Given the description of an element on the screen output the (x, y) to click on. 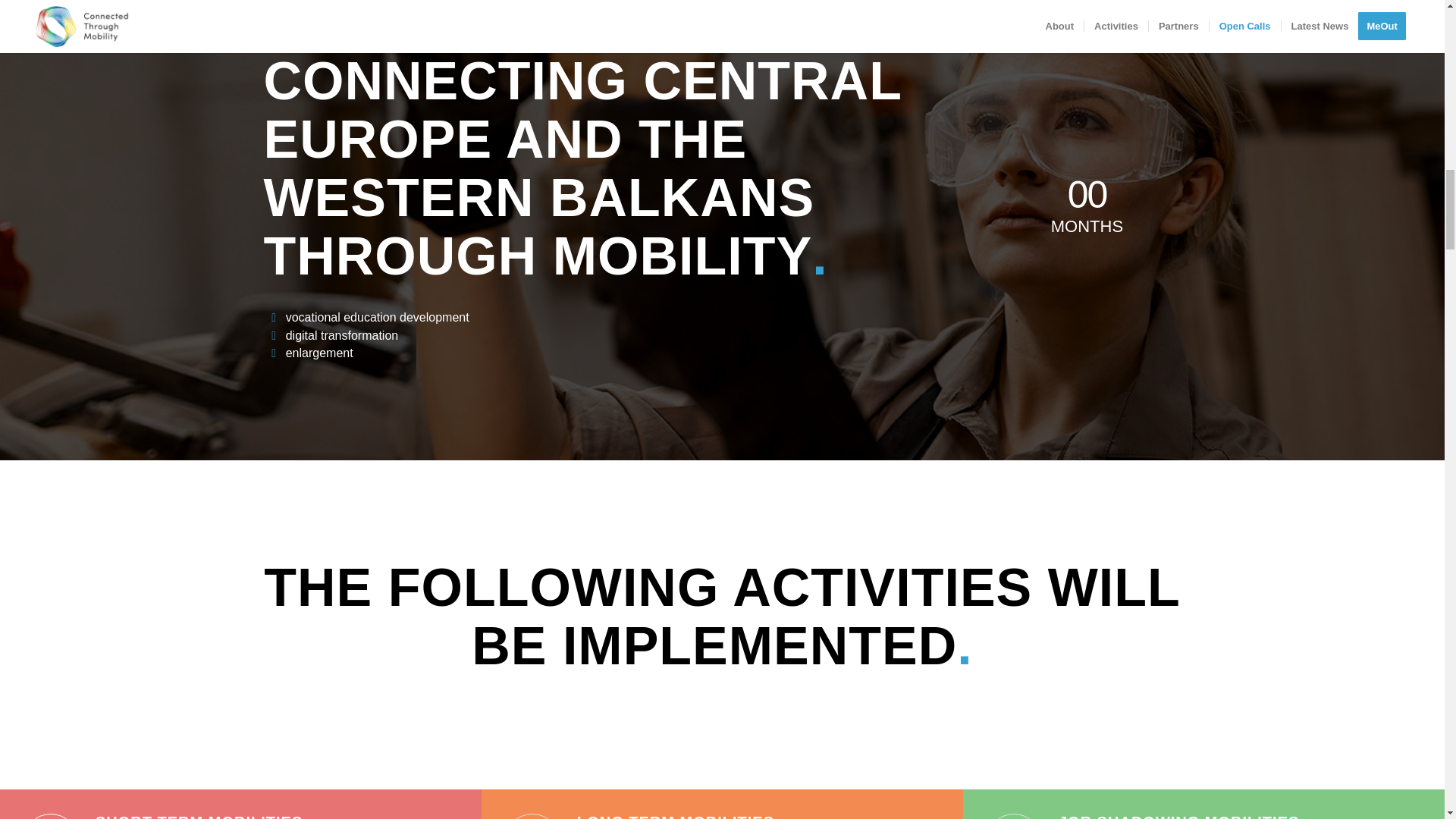
Short term mobilities (199, 816)
Job shadowing mobilities (1178, 816)
LONG TERM MOBILITIES (675, 816)
JOB SHADOWING MOBILITIES (1178, 816)
SHORT TERM MOBILITIES (199, 816)
Long term mobilities (675, 816)
